Given the description of an element on the screen output the (x, y) to click on. 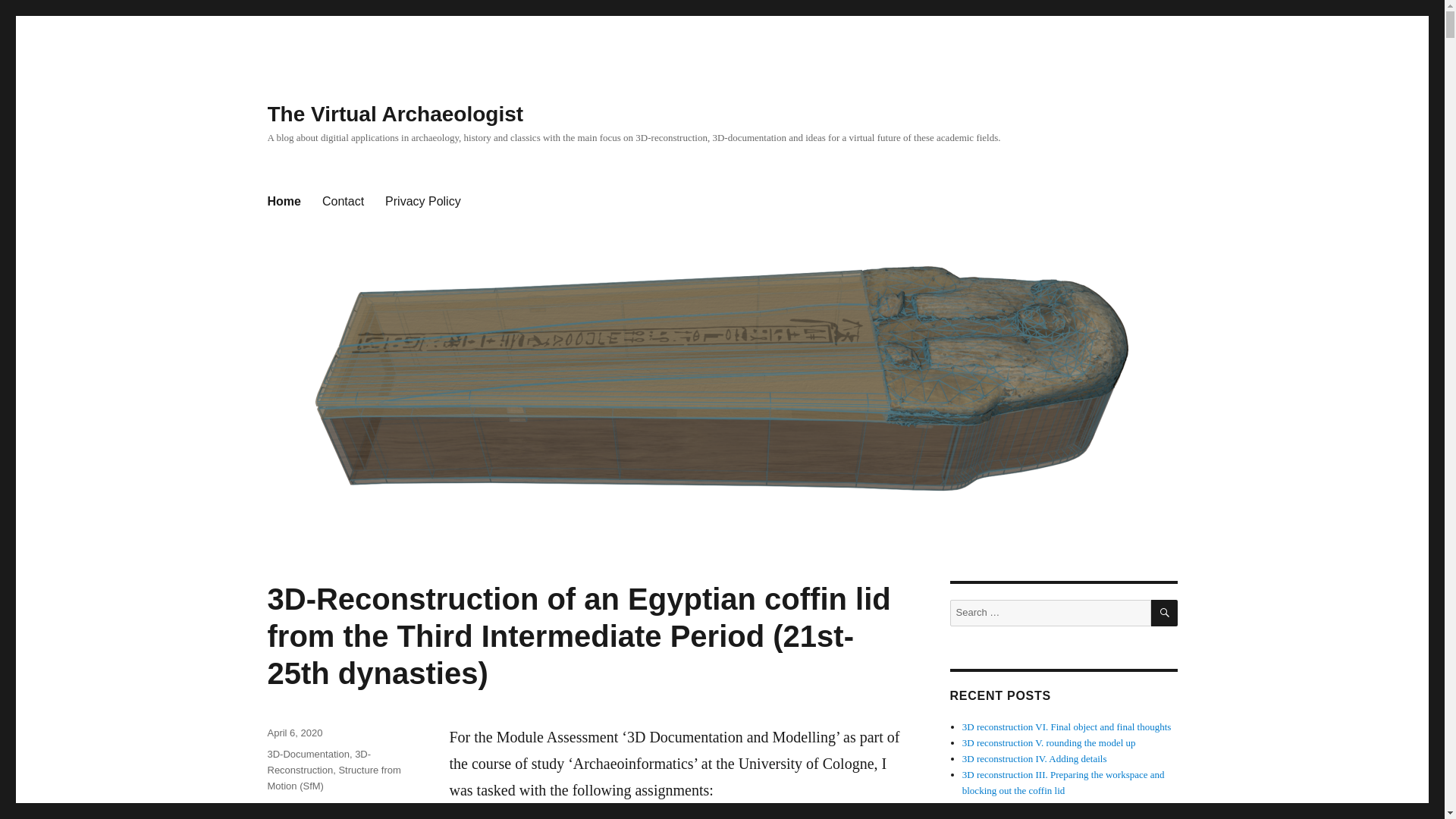
The Virtual Archaeologist (394, 114)
3D-Reconstruction (318, 761)
Contact (342, 201)
3D-Documentation (307, 754)
Home (283, 201)
April 6, 2020 (293, 732)
Privacy Policy (422, 201)
